Given the description of an element on the screen output the (x, y) to click on. 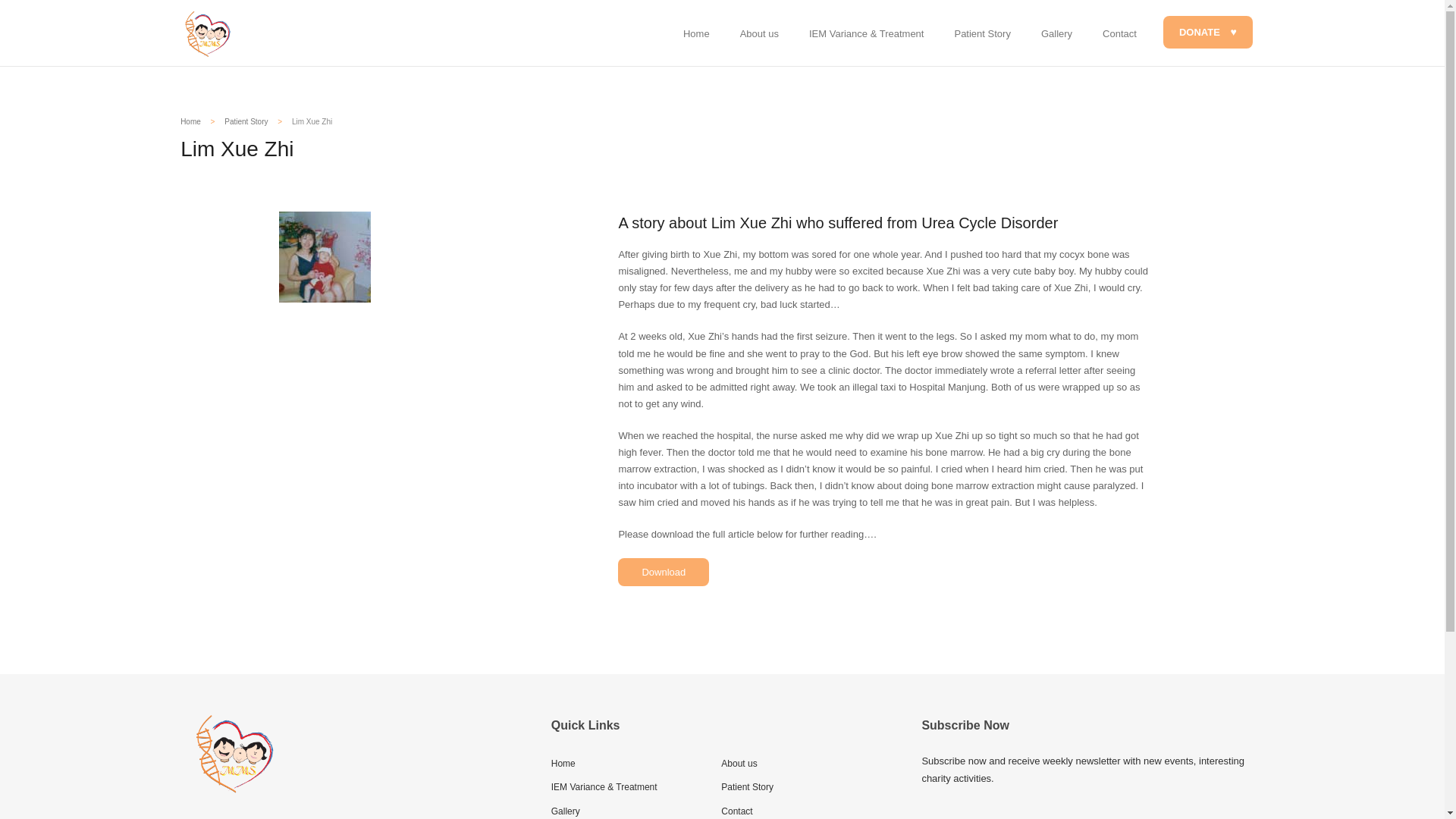
Download (663, 571)
Contact (1119, 33)
About us (738, 764)
Gallery (1056, 33)
Gallery (565, 811)
About us (759, 33)
Contact (736, 811)
Download (663, 572)
Home (563, 764)
Patient Story (982, 33)
Patient Story (746, 787)
Home (190, 121)
Patient Story (245, 121)
